Given the description of an element on the screen output the (x, y) to click on. 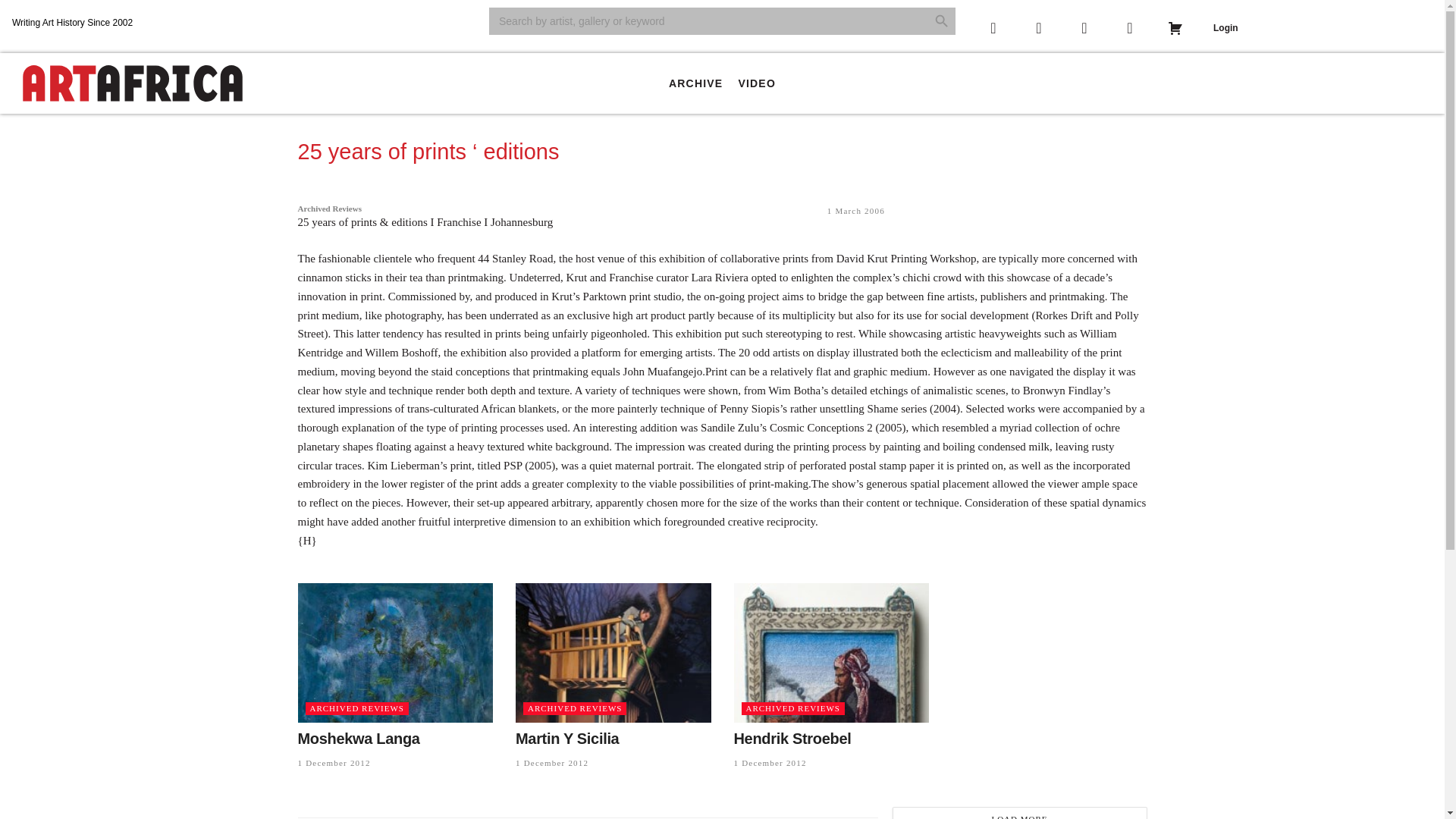
1 December 2012 (551, 762)
Hendrik Stroebel (792, 738)
1 March 2006 (856, 210)
VIDEO (756, 83)
Martin Y Sicilia (566, 738)
LOAD MORE (1019, 812)
ARCHIVED REVIEWS (574, 707)
1 December 2012 (769, 762)
Search Button (941, 21)
1 December 2012 (333, 762)
Moshekwa Langa (358, 738)
Login (1225, 27)
ARCHIVED REVIEWS (792, 707)
ARCHIVED REVIEWS (355, 707)
Archived Reviews (329, 207)
